Given the description of an element on the screen output the (x, y) to click on. 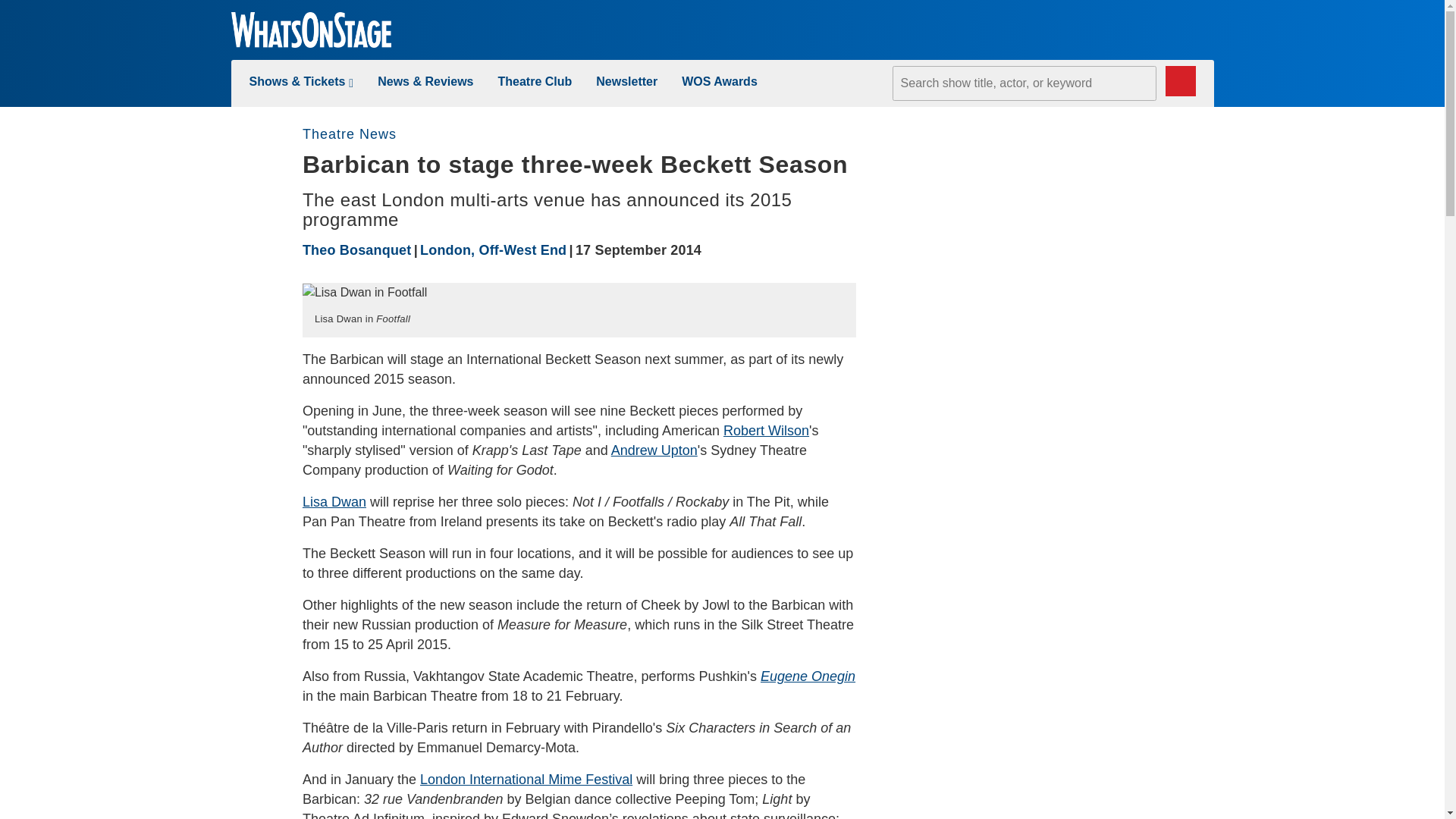
new-and-reviews-link (425, 81)
Lisa Dwan in Footfall (365, 292)
Theatre Club (534, 81)
WOS Awards (719, 81)
Newsletter (626, 81)
